Given the description of an element on the screen output the (x, y) to click on. 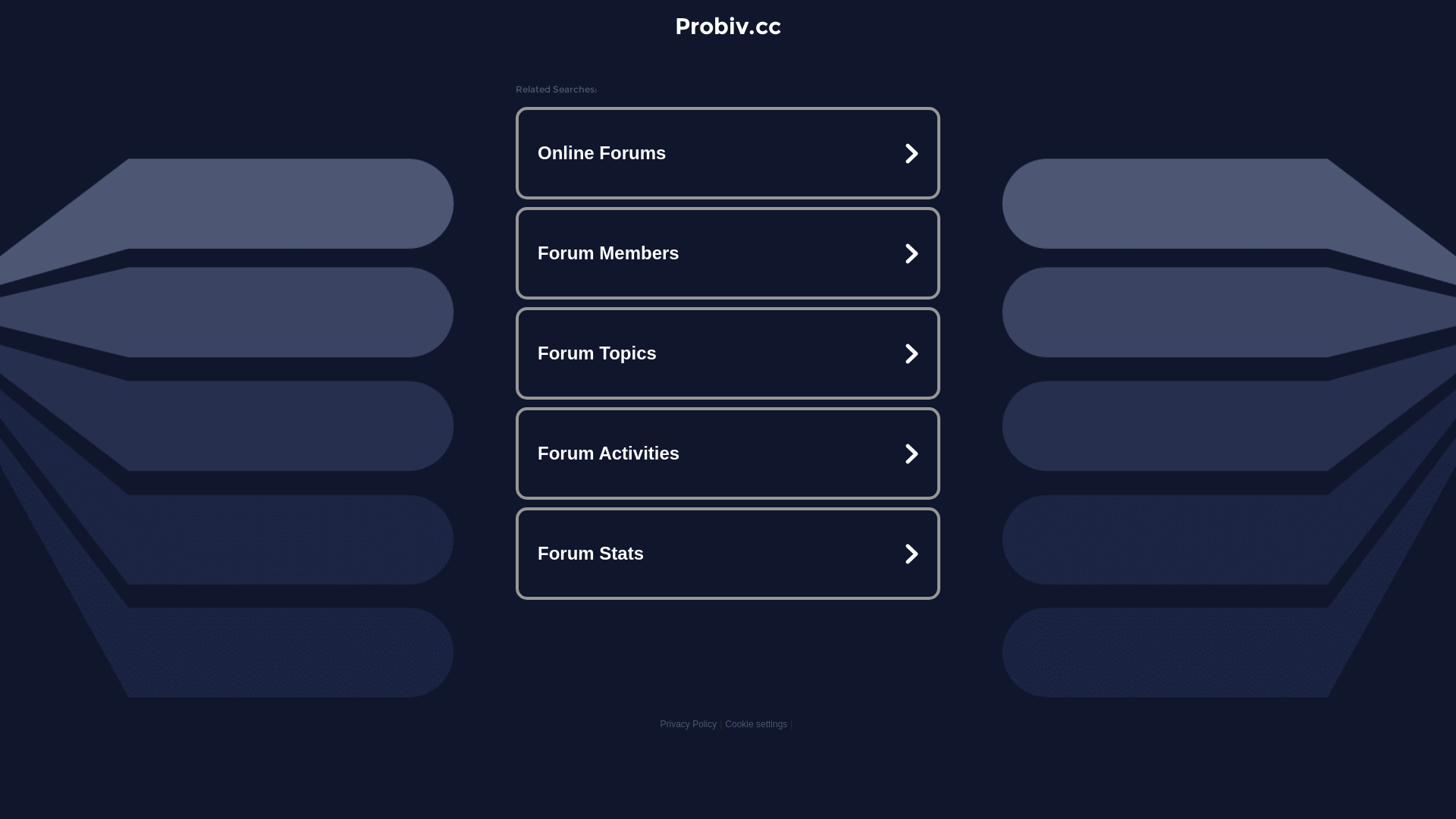
Cookie settings Element type: text (755, 723)
Forum Activities Element type: text (727, 453)
Forum Stats Element type: text (727, 553)
Forum Members Element type: text (727, 253)
Online Forums Element type: text (727, 152)
Privacy Policy Element type: text (687, 723)
Forum Topics Element type: text (727, 353)
Probiv.cc Element type: text (727, 26)
